Given the description of an element on the screen output the (x, y) to click on. 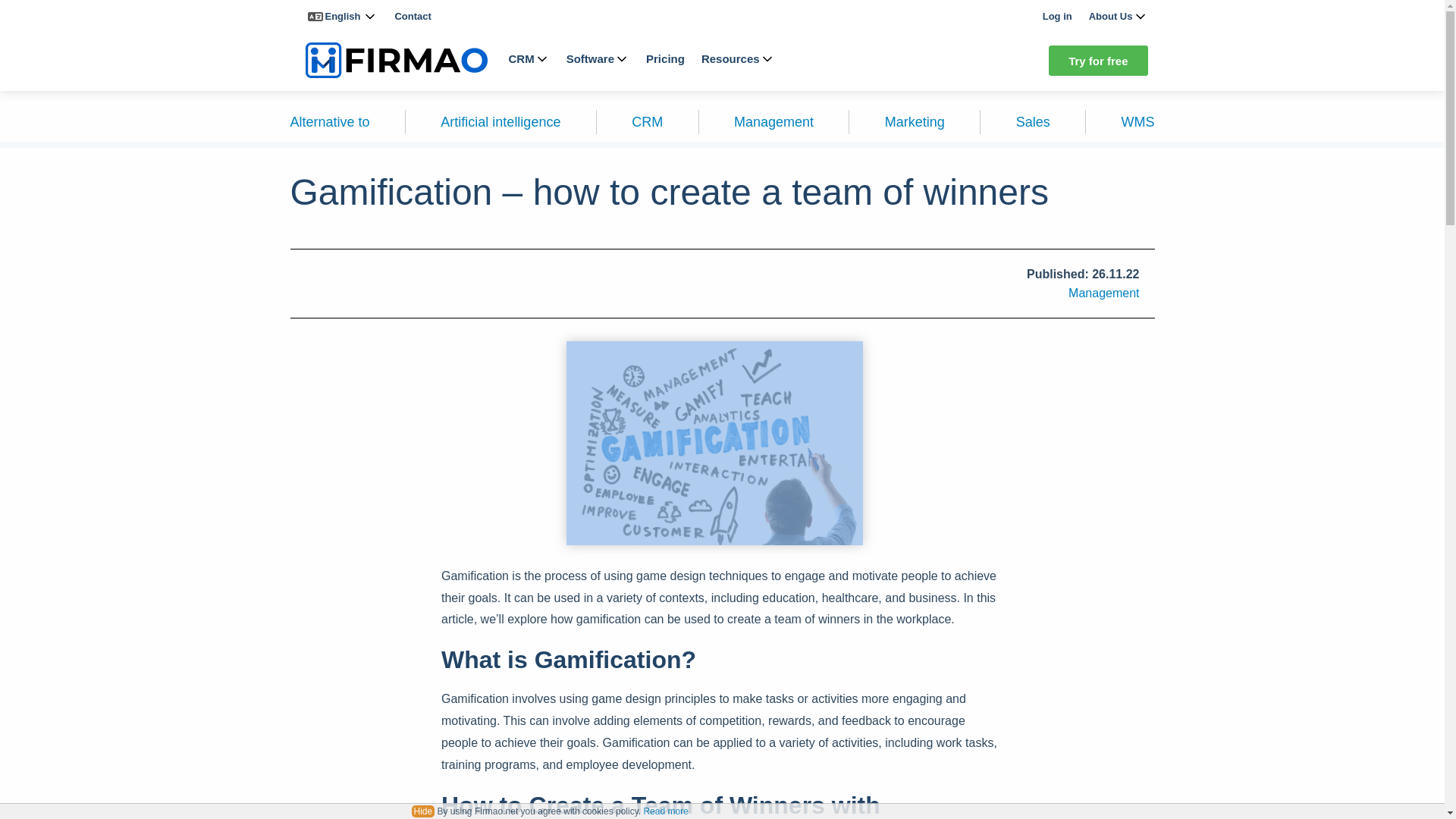
CRM (528, 59)
Software (597, 59)
Management (773, 121)
Log in (1056, 17)
Try for free (1097, 60)
Resources (737, 59)
Alternative to (329, 121)
English (342, 17)
Artificial intelligence (500, 121)
About Us (1118, 17)
